Given the description of an element on the screen output the (x, y) to click on. 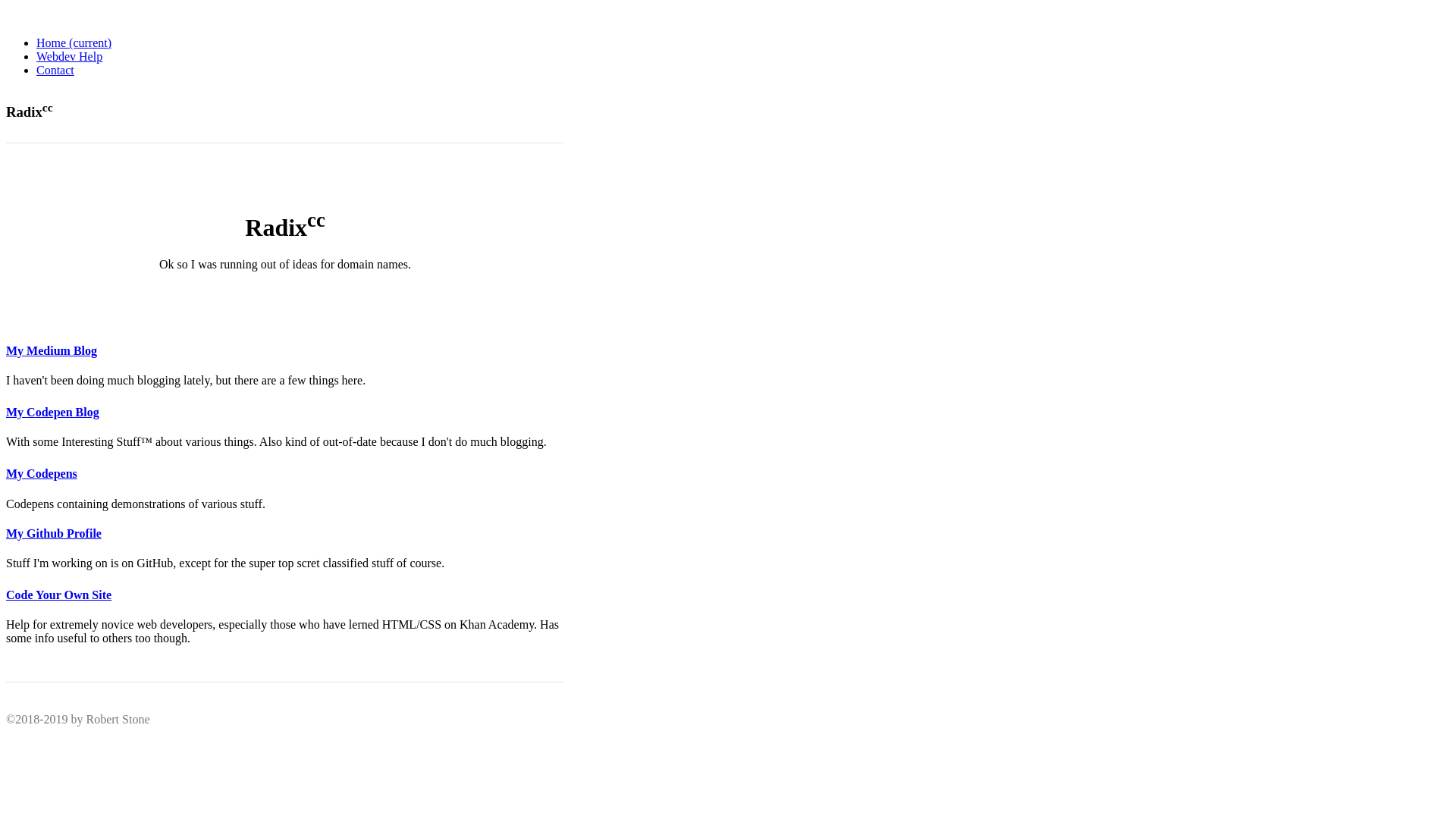
My Codepens Element type: text (41, 473)
My Codepen Blog Element type: text (52, 411)
My Github Profile Element type: text (53, 533)
Code Your Own Site Element type: text (58, 594)
Contact Element type: text (55, 69)
Webdev Help Element type: text (69, 56)
Home (current) Element type: text (73, 42)
My Medium Blog Element type: text (51, 350)
